Given the description of an element on the screen output the (x, y) to click on. 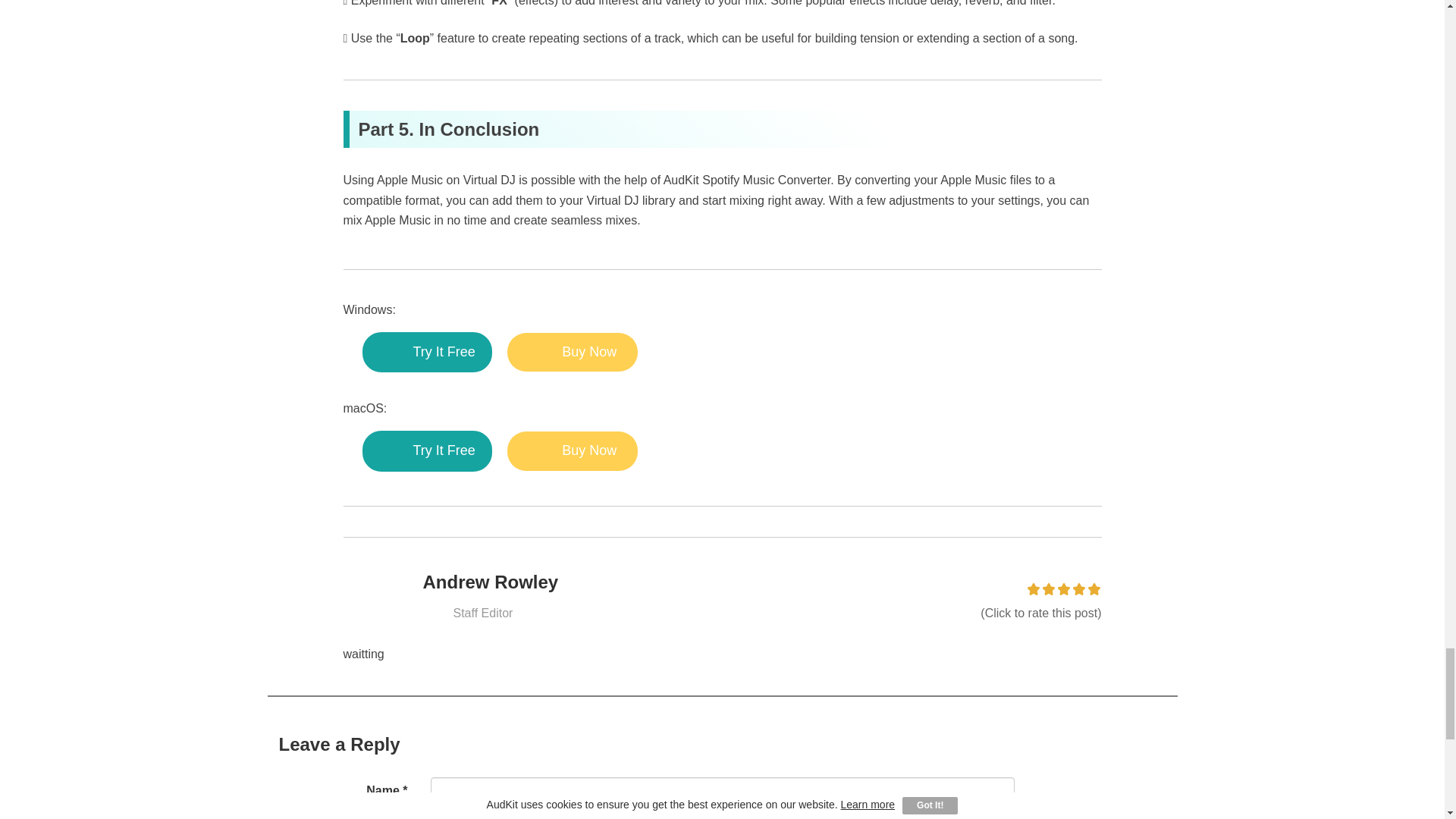
Try It Free (427, 352)
Buy Now (571, 450)
Try It Free (427, 450)
Buy Now (571, 352)
